Given the description of an element on the screen output the (x, y) to click on. 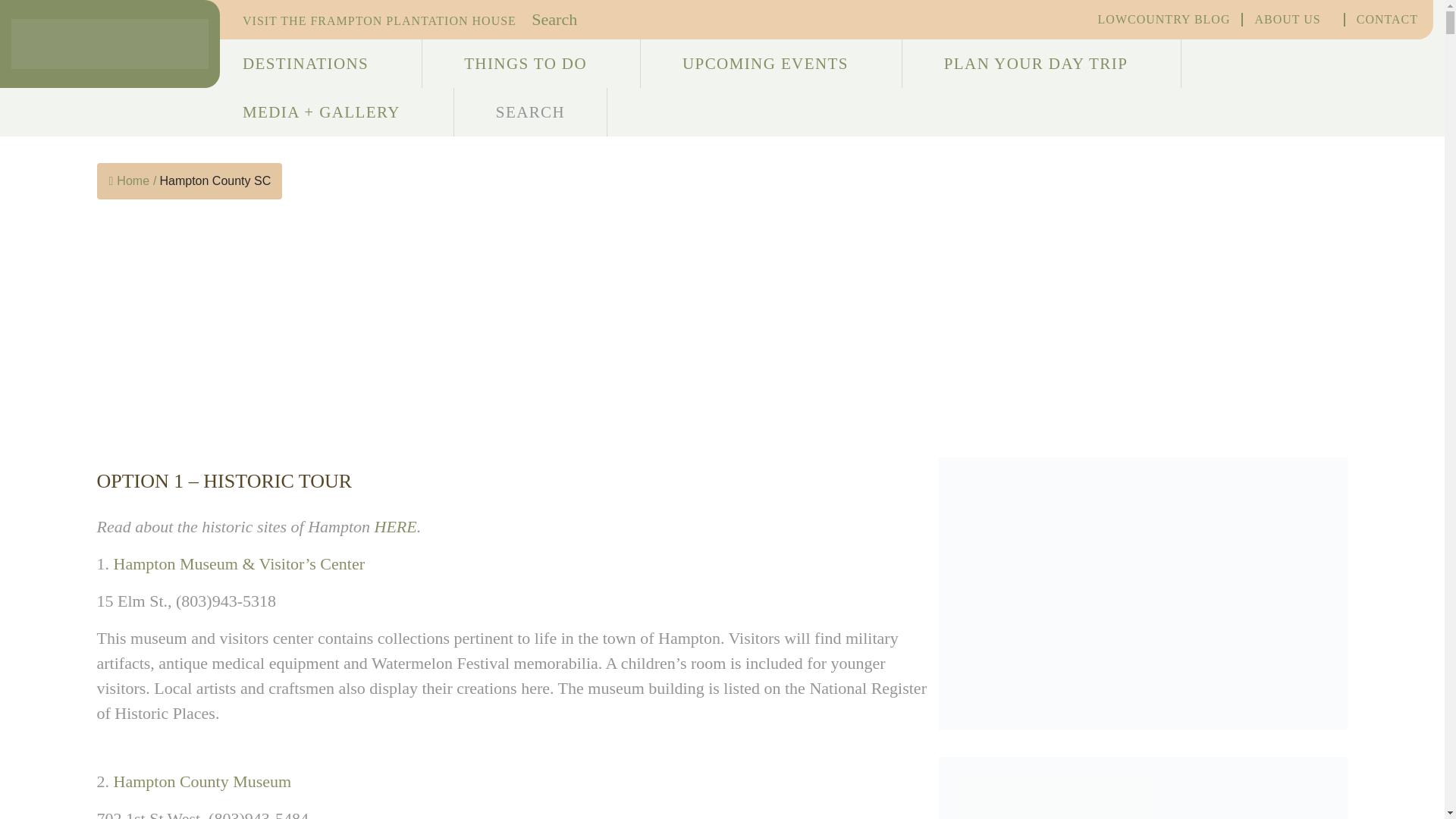
ABOUT US (1292, 19)
VISIT THE FRAMPTON PLANTATION HOUSE (385, 20)
Hampton County SC (214, 180)
alt (1143, 787)
CONTACT (1387, 19)
LOWCOUNTRY BLOG (1163, 19)
THINGS TO DO (531, 63)
DESTINATIONS (311, 63)
